Given the description of an element on the screen output the (x, y) to click on. 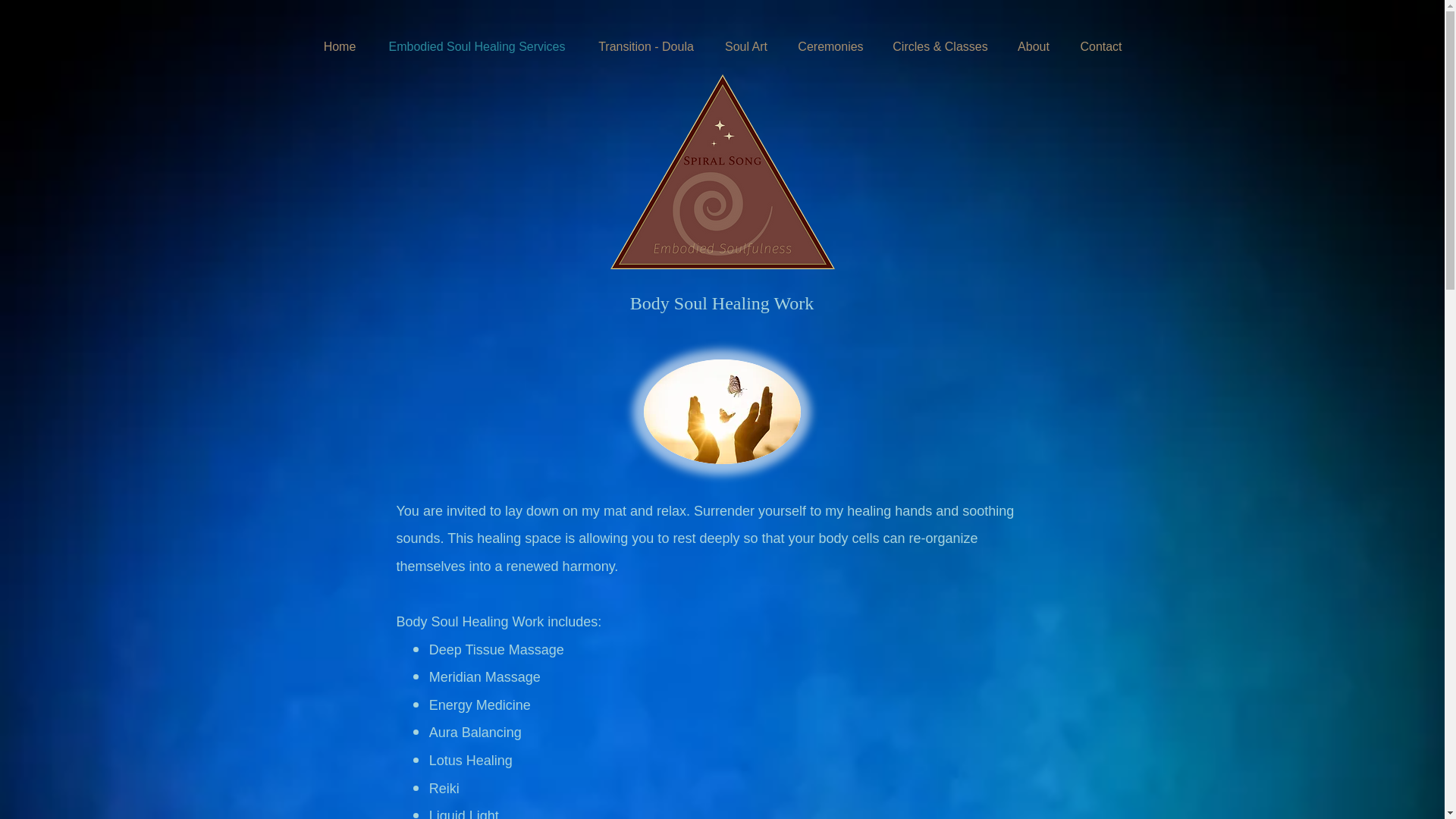
Ceremonies (830, 46)
Home (339, 46)
Embodied Soul Healing Services (477, 46)
Transition - Doula (645, 46)
Soul Art (746, 46)
About (1034, 46)
Homepage (722, 171)
Contact (1100, 46)
